Given the description of an element on the screen output the (x, y) to click on. 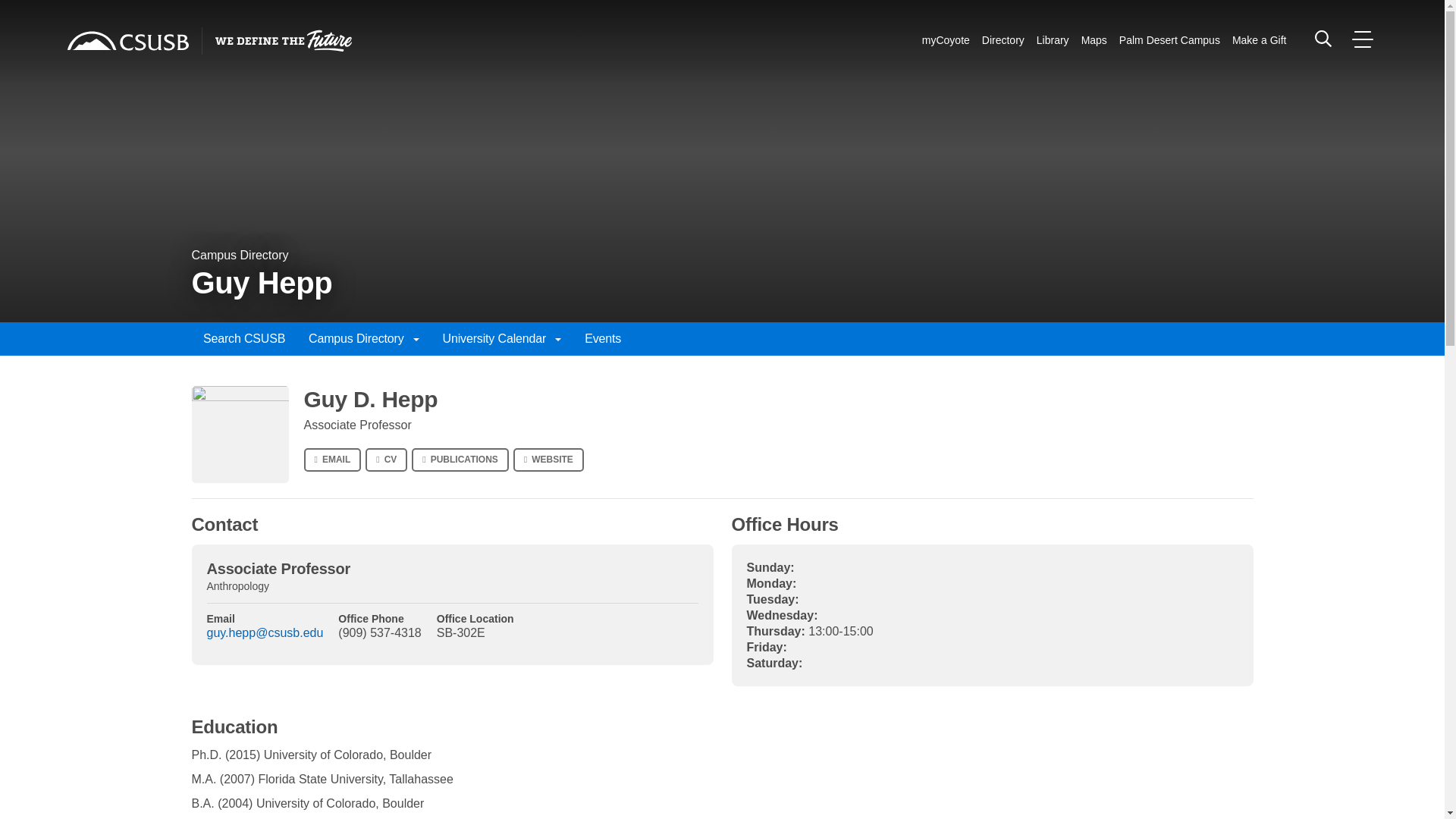
Search CSUSB (1323, 38)
Home (126, 40)
